Given the description of an element on the screen output the (x, y) to click on. 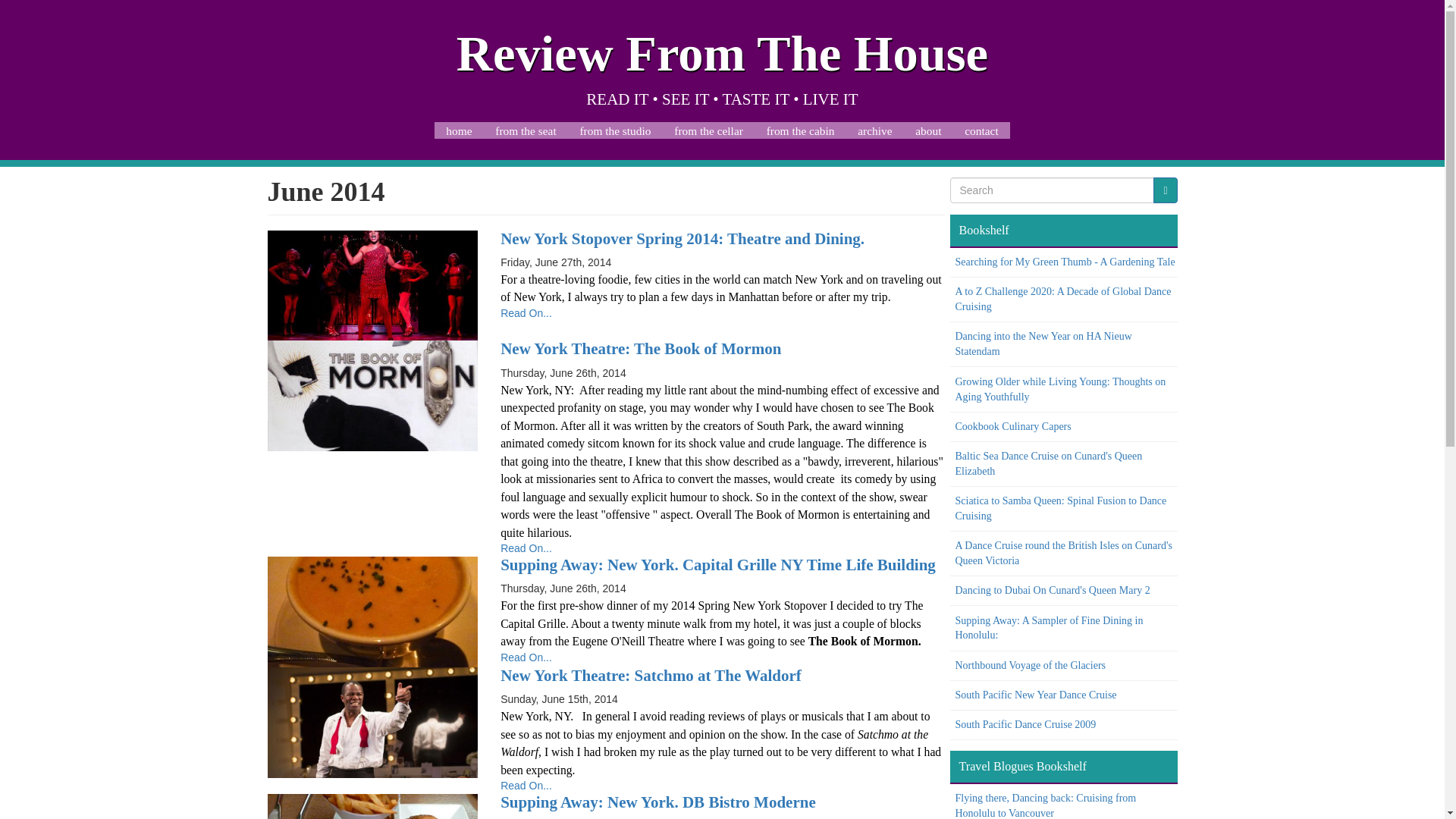
New York Theatre: Satchmo at The Waldorf (651, 675)
New York Theatre: The Book of Mormon (371, 395)
contact (981, 130)
reviews from the cellar (708, 130)
Supping Away: New York. DB Bistro Moderne (657, 802)
home (458, 130)
New York Theatre: Satchmo at The Waldorf  (371, 722)
Enter the terms you wish to search for. (1051, 190)
archive (874, 130)
home (458, 130)
